Given the description of an element on the screen output the (x, y) to click on. 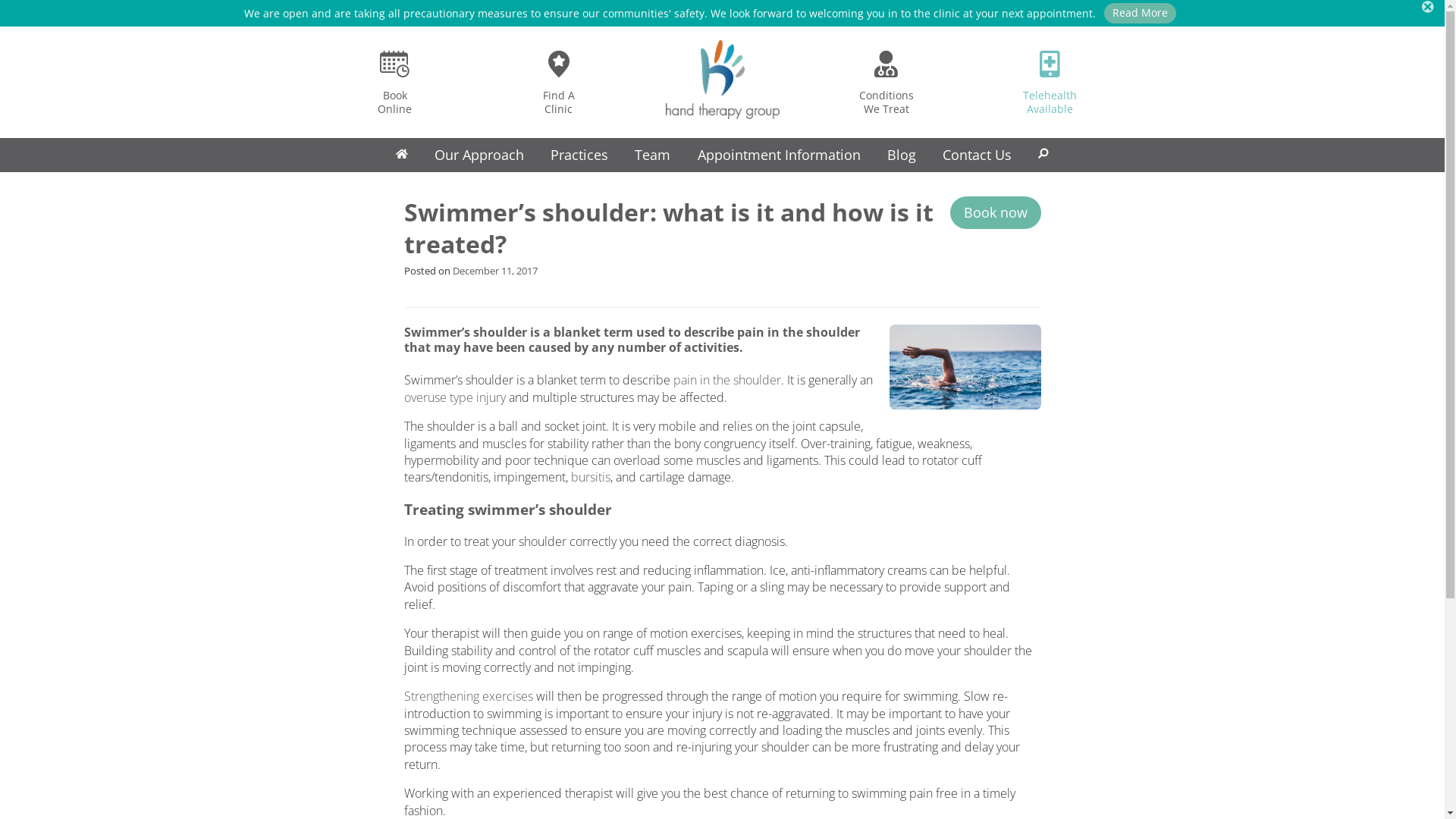
h Element type: text (401, 155)
bursitis Element type: text (589, 476)
Book now Element type: text (995, 212)
s Element type: text (1043, 155)
R
Book
Online Element type: text (394, 81)
December 11, 2017 Element type: text (493, 270)
Team Element type: text (652, 155)
o
Conditions
We Treat Element type: text (885, 81)
Swimmer training on the open sea / ocean. Element type: hover (964, 367)
Contact Us Element type: text (976, 155)
pain in the shoulder Element type: text (727, 379)
Appointment Information Element type: text (778, 155)
Our Approach Element type: text (478, 155)
Blog Element type: text (900, 155)
Strengthening exercises Element type: text (467, 695)
Read More Element type: text (1140, 13)
p
Telehealth
Available Element type: text (1049, 81)
c
Find A
Clinic Element type: text (558, 81)
Practices Element type: text (579, 155)
overuse type injury Element type: text (454, 397)
